Given the description of an element on the screen output the (x, y) to click on. 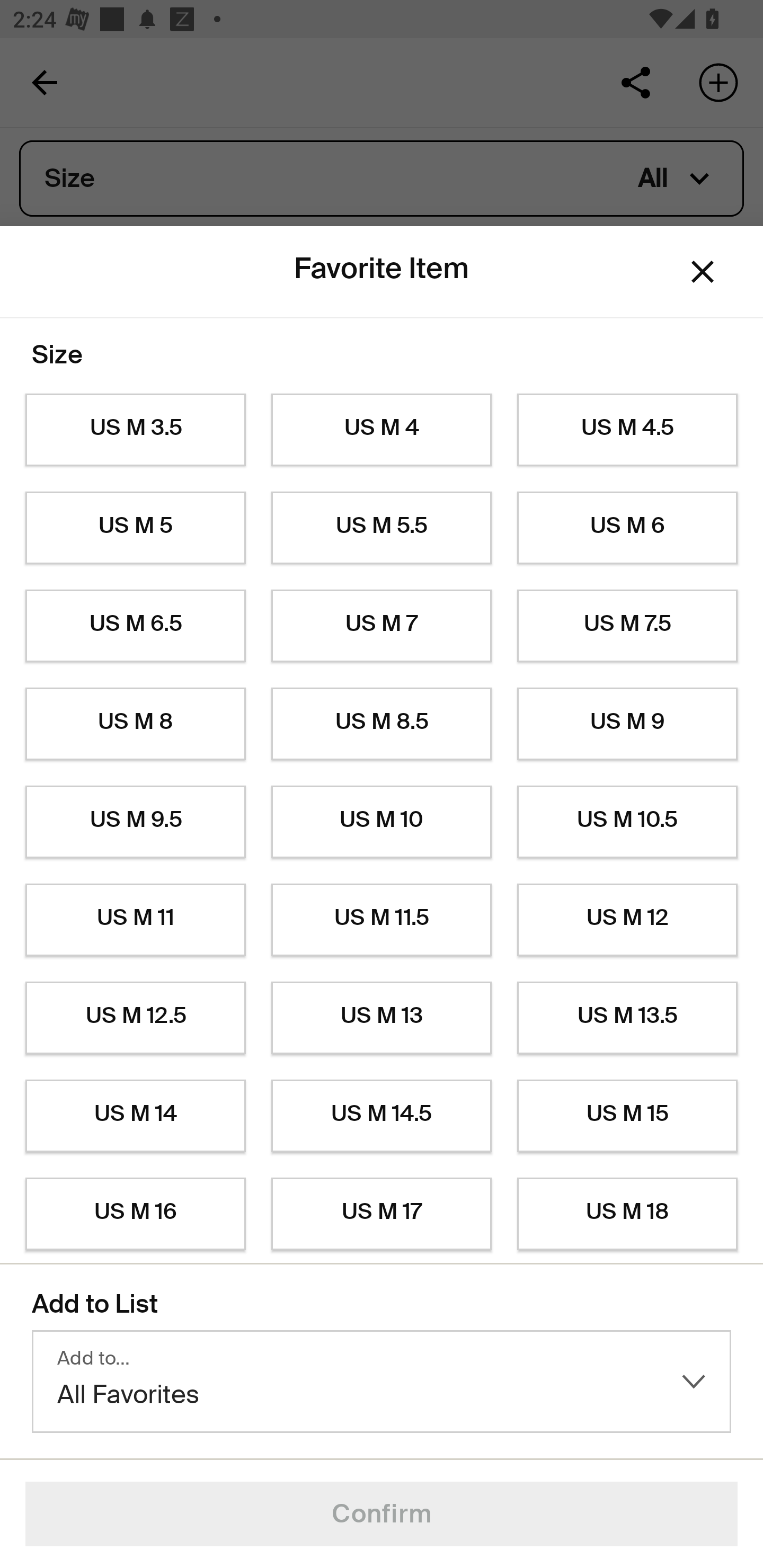
Dismiss (702, 271)
US M 3.5 (135, 430)
US M 4 (381, 430)
US M 4.5 (627, 430)
US M 5 (135, 527)
US M 5.5 (381, 527)
US M 6 (627, 527)
US M 6.5 (135, 626)
US M 7 (381, 626)
US M 7.5 (627, 626)
US M 8 (135, 724)
US M 8.5 (381, 724)
US M 9 (627, 724)
US M 9.5 (135, 822)
US M 10 (381, 822)
US M 10.5 (627, 822)
US M 11 (135, 919)
US M 11.5 (381, 919)
US M 12 (627, 919)
US M 12.5 (135, 1018)
US M 13 (381, 1018)
US M 13.5 (627, 1018)
US M 14 (135, 1116)
US M 14.5 (381, 1116)
US M 15 (627, 1116)
US M 16 (135, 1214)
US M 17 (381, 1214)
US M 18 (627, 1214)
Add to… All Favorites (381, 1381)
Confirm (381, 1513)
